Given the description of an element on the screen output the (x, y) to click on. 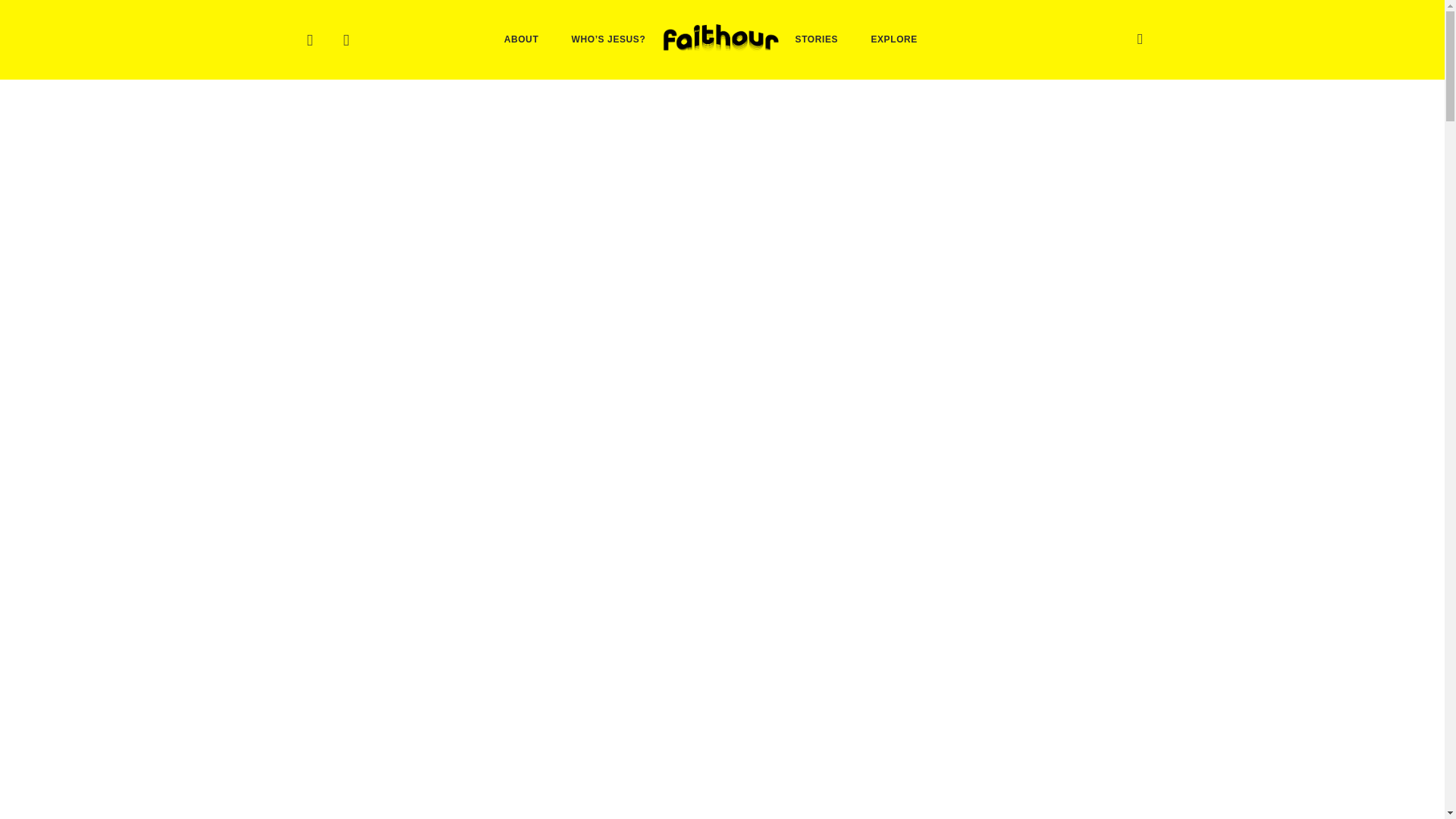
STORIES (816, 39)
EXPLORE (894, 39)
ABOUT (520, 39)
